Given the description of an element on the screen output the (x, y) to click on. 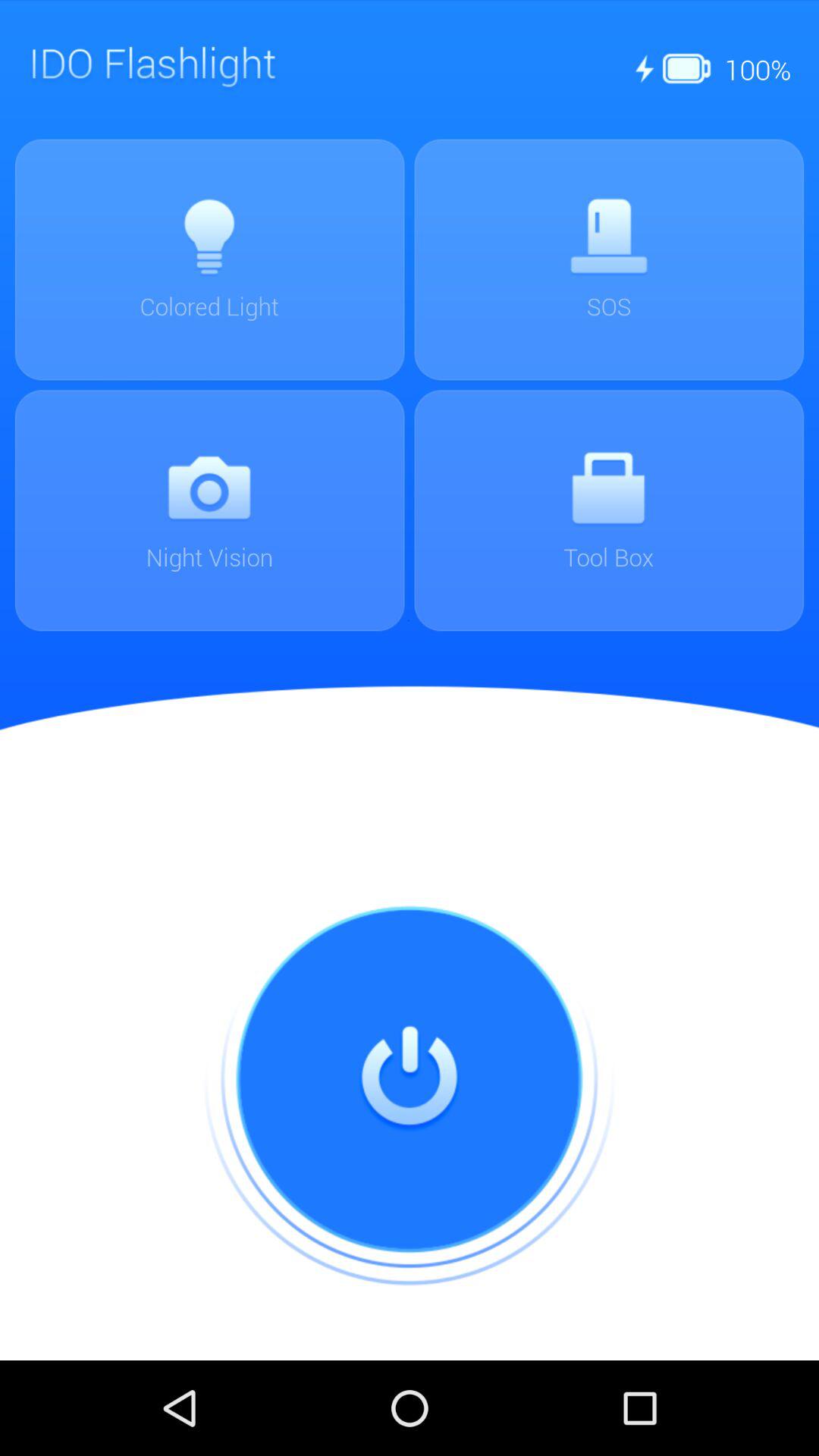
tap the icon at the bottom (409, 1079)
